Given the description of an element on the screen output the (x, y) to click on. 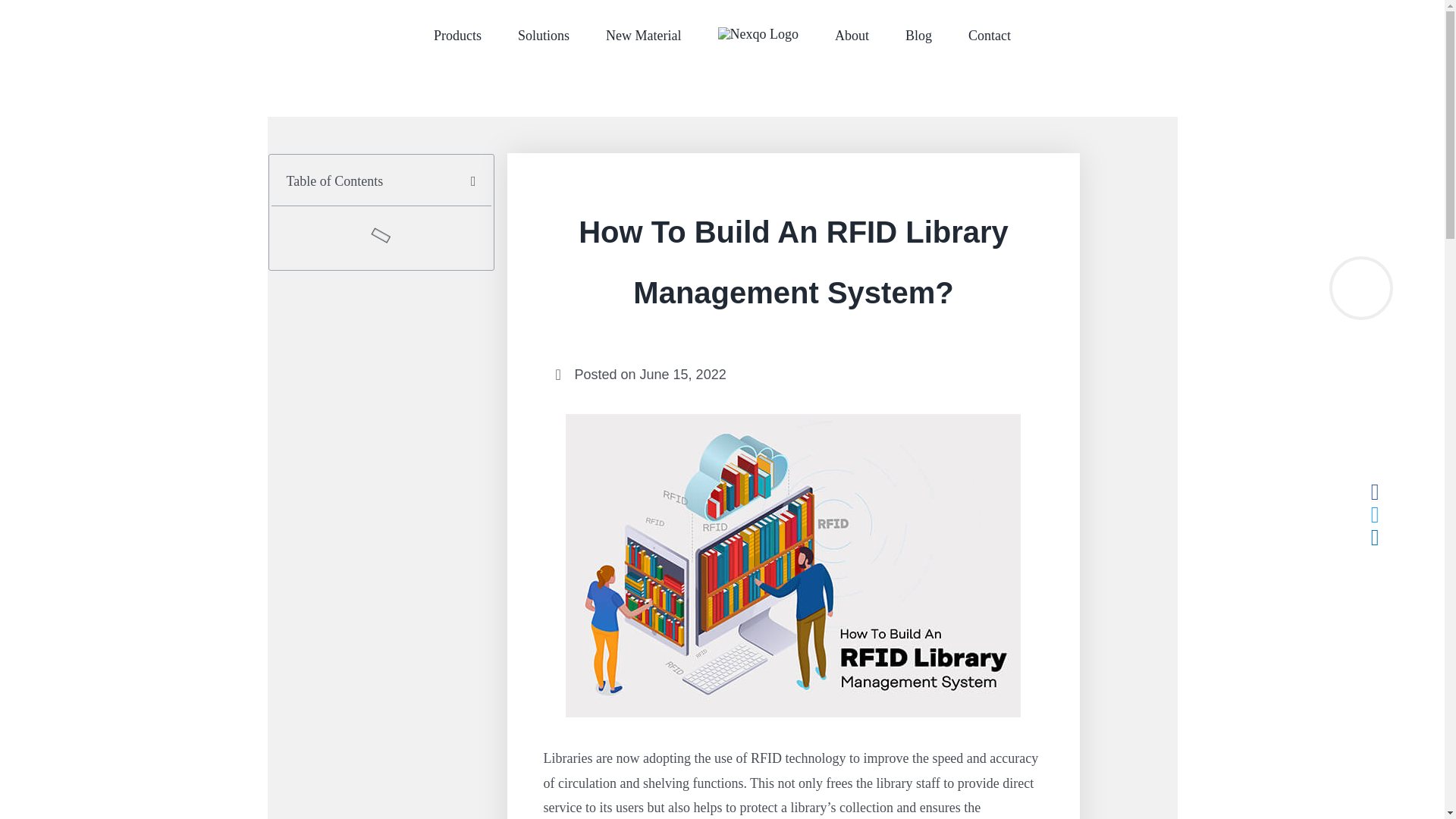
New Material (643, 35)
